Given the description of an element on the screen output the (x, y) to click on. 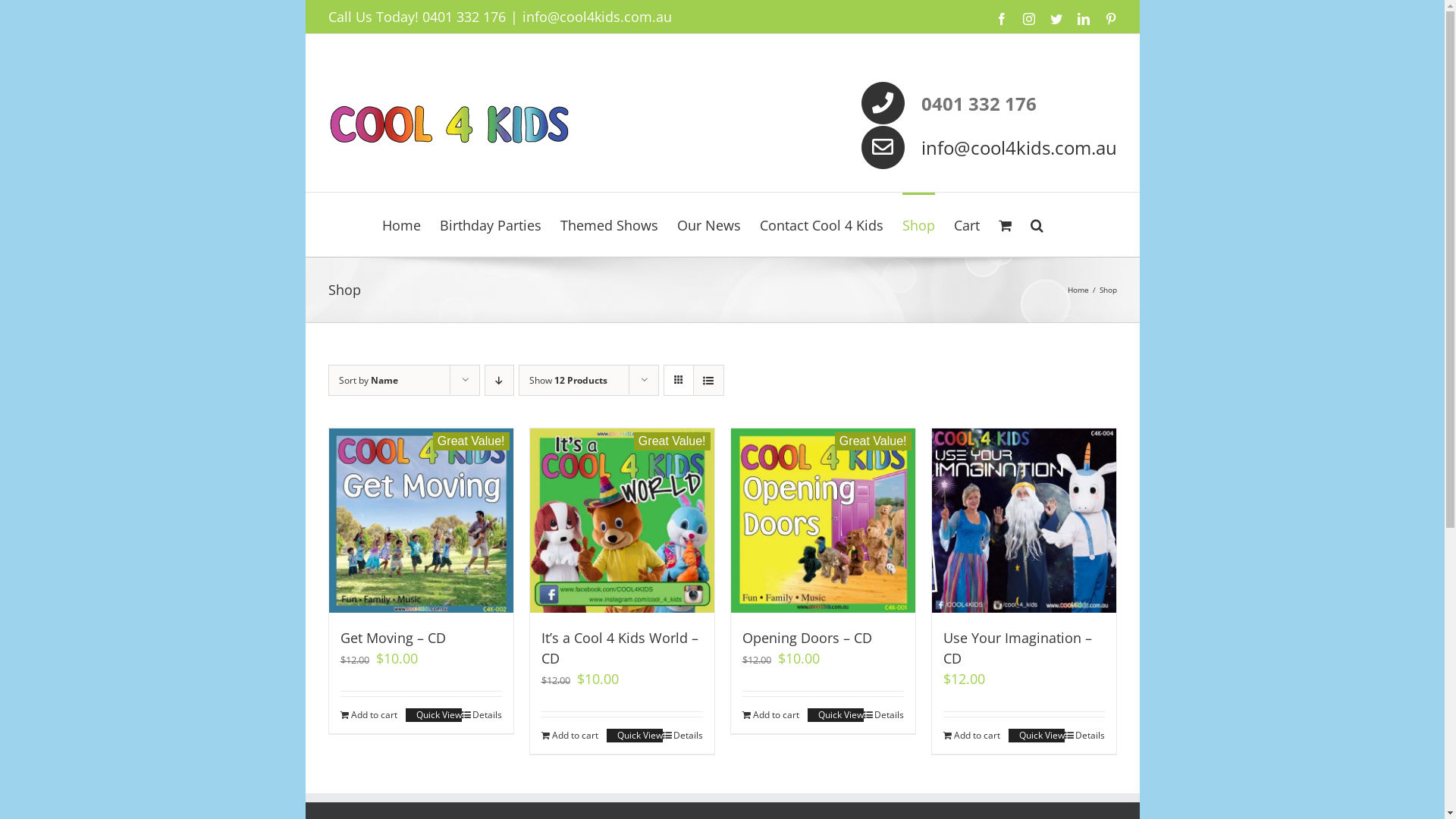
Home Element type: text (401, 224)
Twitter Element type: text (1055, 18)
Our News Element type: text (708, 224)
Contact Cool 4 Kids Element type: text (821, 224)
Add to cart Element type: text (569, 735)
Cart Element type: text (966, 224)
Shop Element type: text (918, 224)
Birthday Parties Element type: text (490, 224)
Sort by Name Element type: text (367, 379)
Search Element type: hover (1036, 224)
Show 12 Products Element type: text (568, 379)
Great Value! Element type: text (421, 520)
Themed Shows Element type: text (609, 224)
Details Element type: text (1084, 735)
Details Element type: text (882, 714)
Home Element type: text (1077, 289)
Instagram Element type: text (1028, 18)
Add to cart Element type: text (769, 714)
Quick View Element type: text (1036, 735)
Quick View Element type: text (834, 714)
info@cool4kids.com.au Element type: text (1018, 147)
Details Element type: text (682, 735)
Add to cart Element type: text (971, 735)
Add to cart Element type: text (367, 714)
Details Element type: text (481, 714)
Great Value! Element type: text (1023, 520)
Pinterest Element type: text (1110, 18)
Great Value! Element type: text (823, 520)
Facebook Element type: text (1000, 18)
LinkedIn Element type: text (1082, 18)
Quick View Element type: text (432, 714)
Great Value! Element type: text (621, 520)
Quick View Element type: text (634, 735)
info@cool4kids.com.au Element type: text (596, 16)
